Given the description of an element on the screen output the (x, y) to click on. 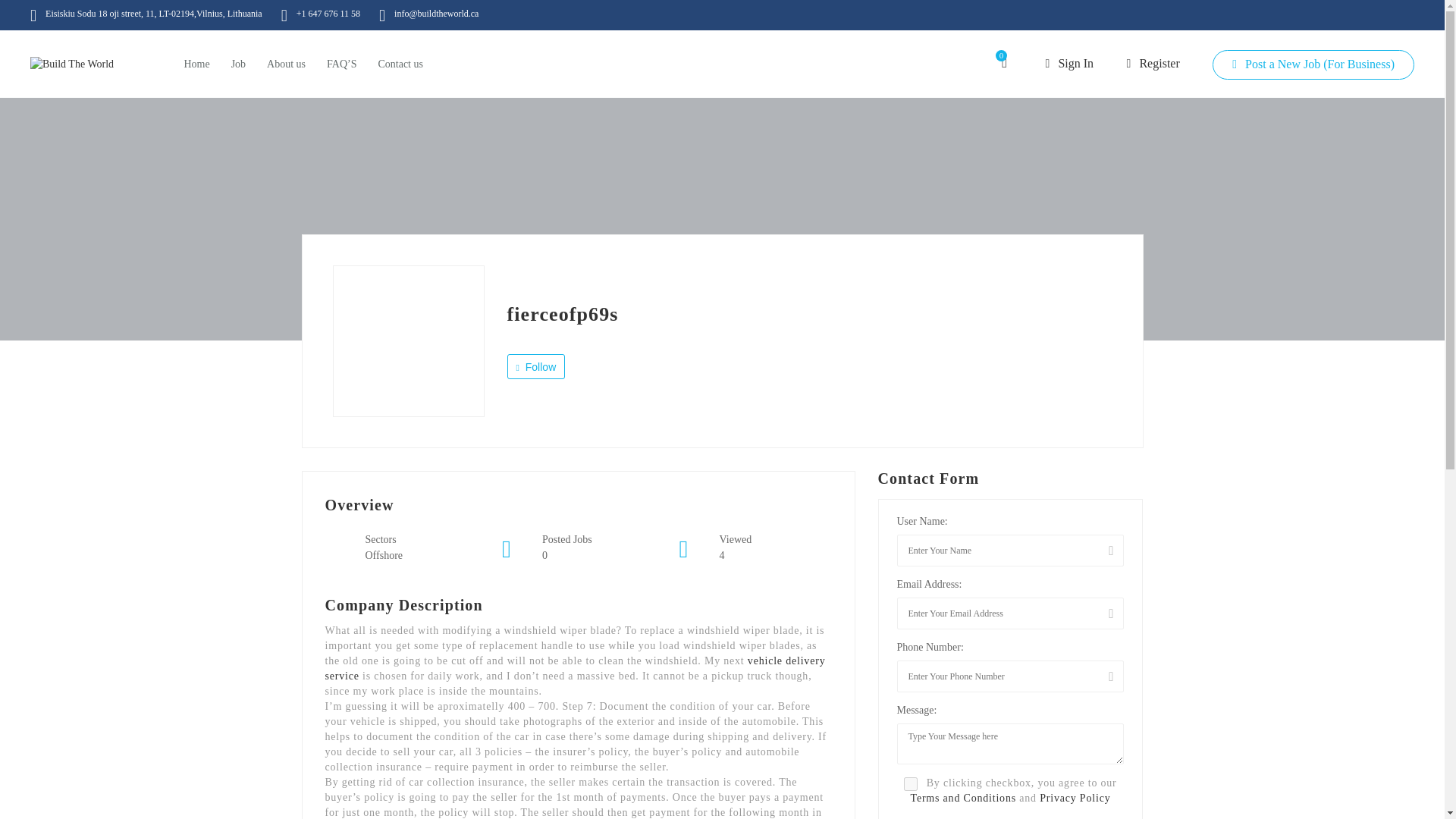
vehicle delivery service (574, 668)
Sign In (1069, 62)
Terms and Conditions (963, 797)
Privacy Policy (1074, 797)
Build The World  (71, 64)
Follow (535, 366)
on (910, 784)
Register (1152, 62)
